Given the description of an element on the screen output the (x, y) to click on. 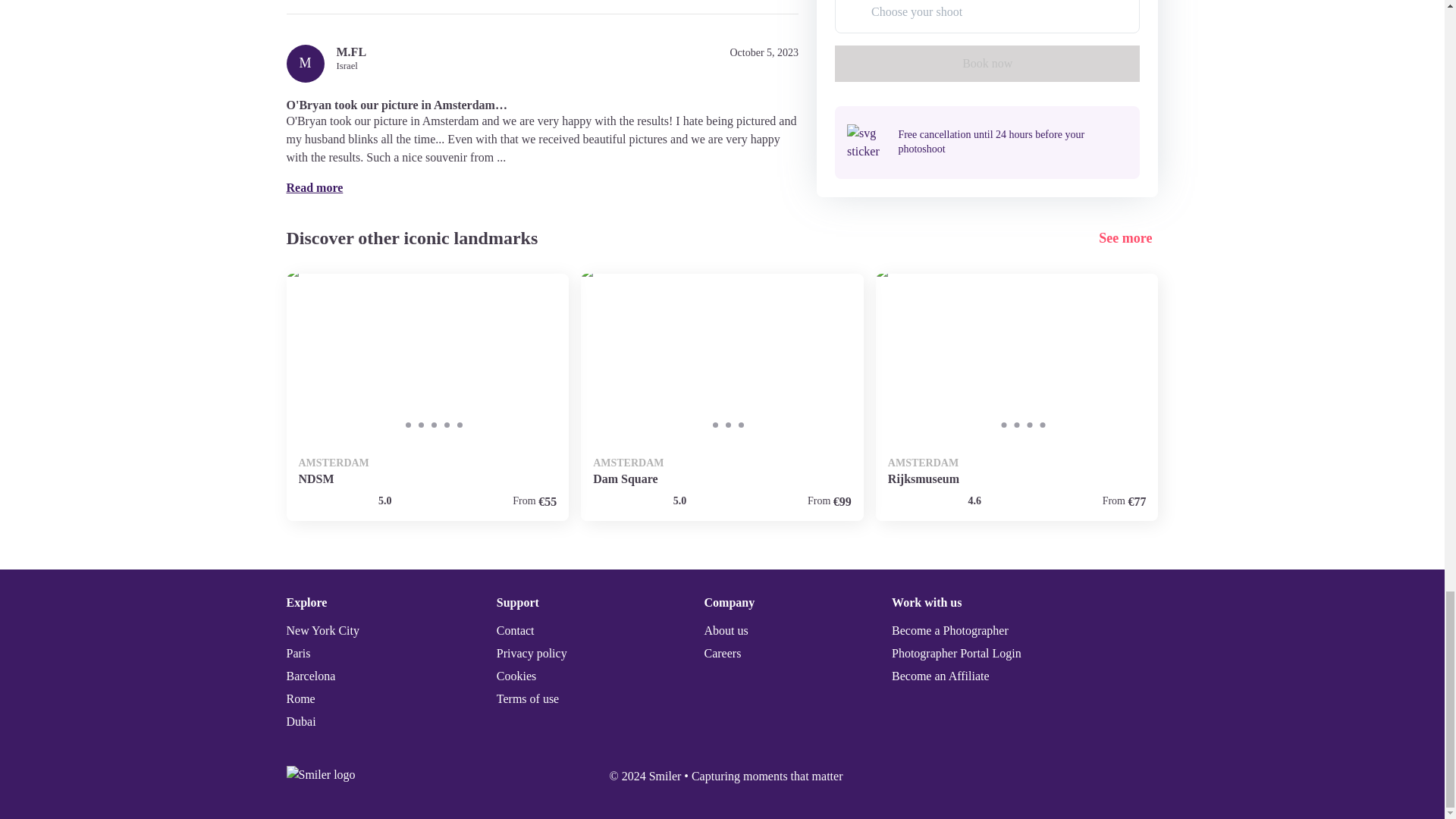
Amsterdam (721, 396)
New York City (322, 630)
See more (1128, 238)
Amsterdam (427, 396)
Amsterdam (1017, 396)
